Given the description of an element on the screen output the (x, y) to click on. 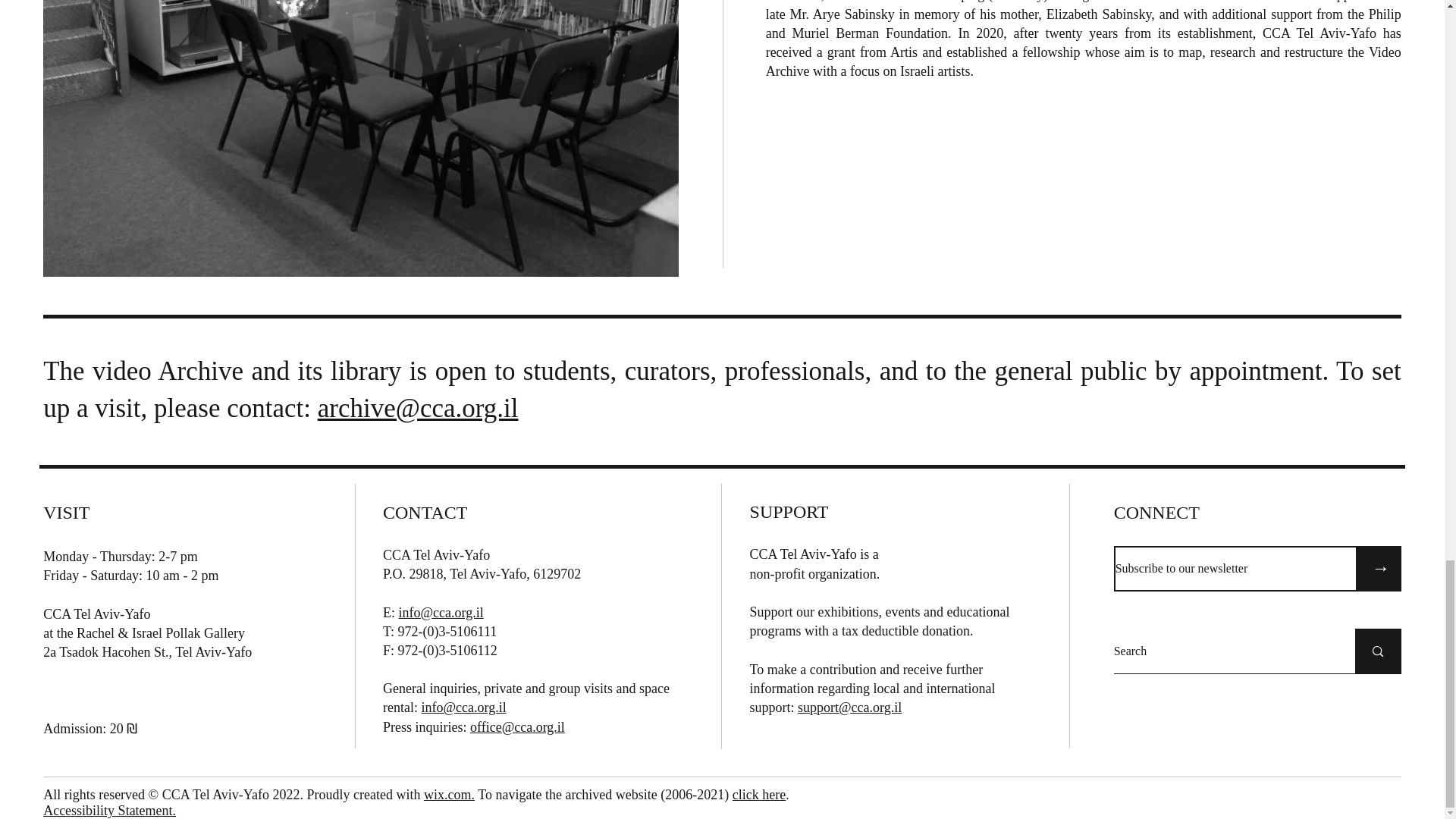
click here (759, 794)
Accessibility Statement. (109, 810)
wix.com. (448, 794)
